Given the description of an element on the screen output the (x, y) to click on. 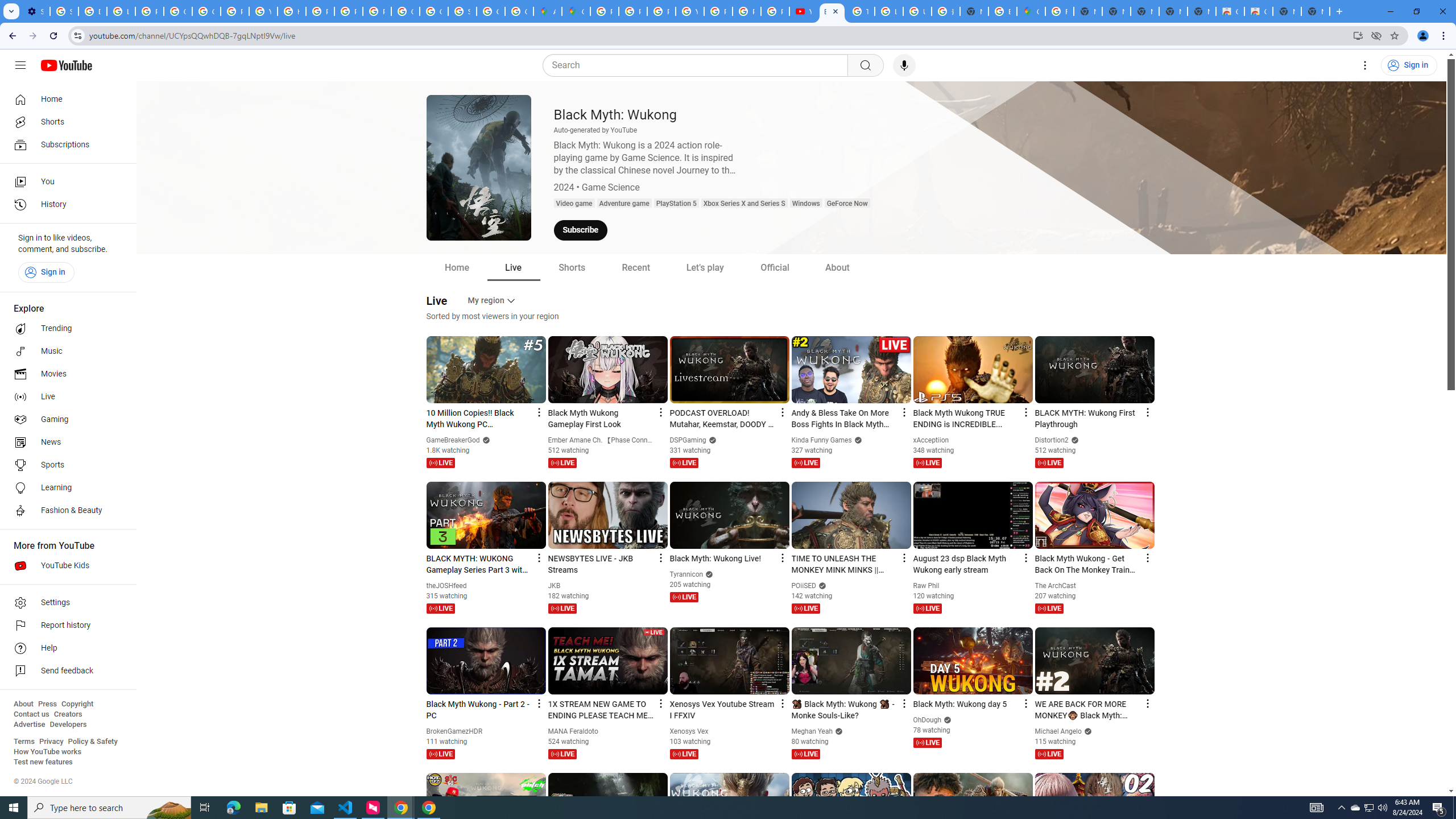
Classic Blue - Chrome Web Store (1258, 11)
Subscriptions (64, 144)
theJOSHfeed (446, 585)
Live (513, 266)
Xbox Series X and Series S (743, 203)
Adventure game (624, 203)
Install YouTube (1358, 35)
Official (774, 266)
Policy Accountability and Transparency - Transparency Center (604, 11)
